Given the description of an element on the screen output the (x, y) to click on. 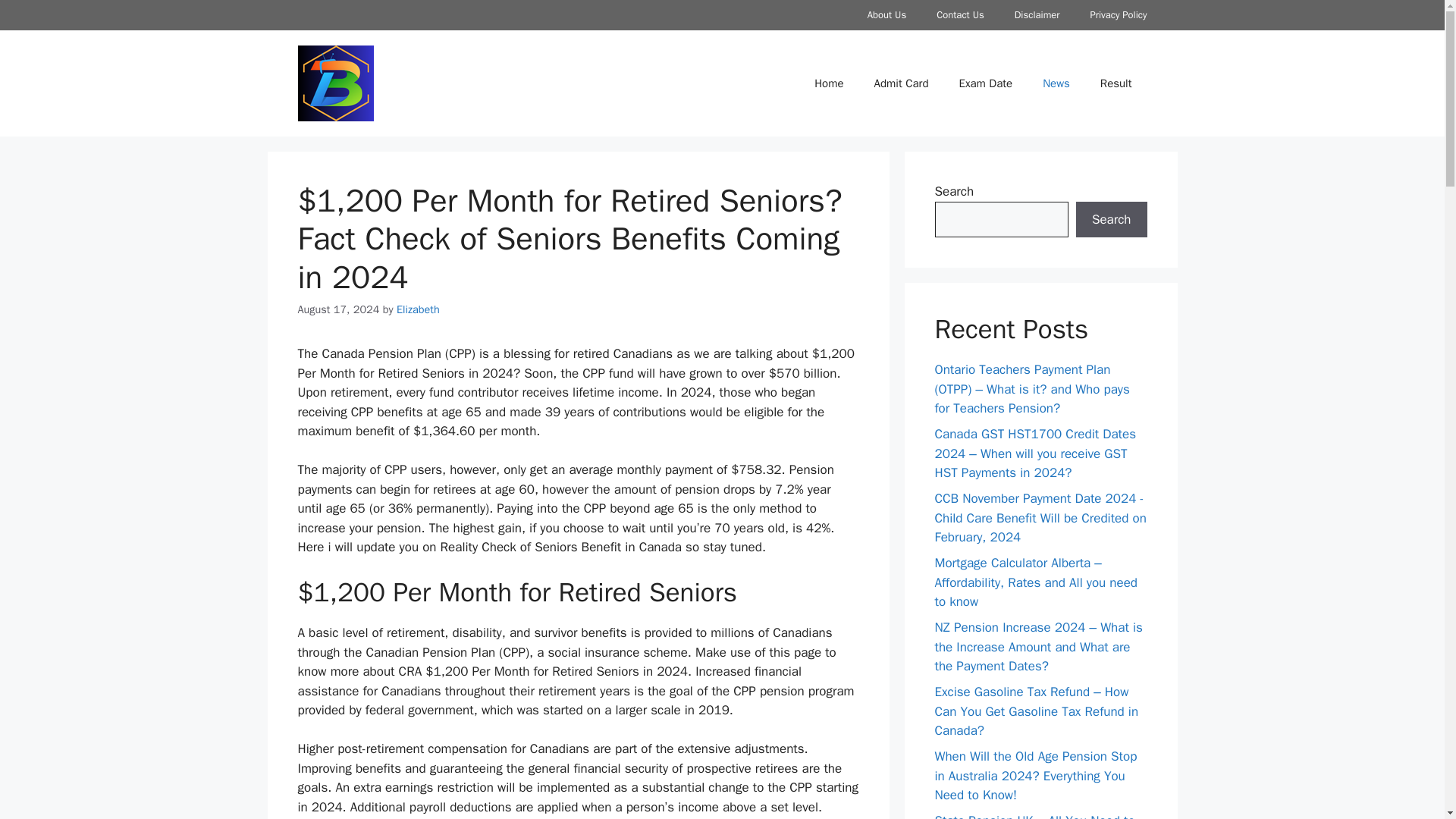
Exam Date (985, 83)
Privacy Policy (1117, 15)
Contact Us (959, 15)
View all posts by Elizabeth (417, 309)
News (1055, 83)
About Us (886, 15)
Search (1111, 219)
Admit Card (901, 83)
Disclaimer (1036, 15)
